Given the description of an element on the screen output the (x, y) to click on. 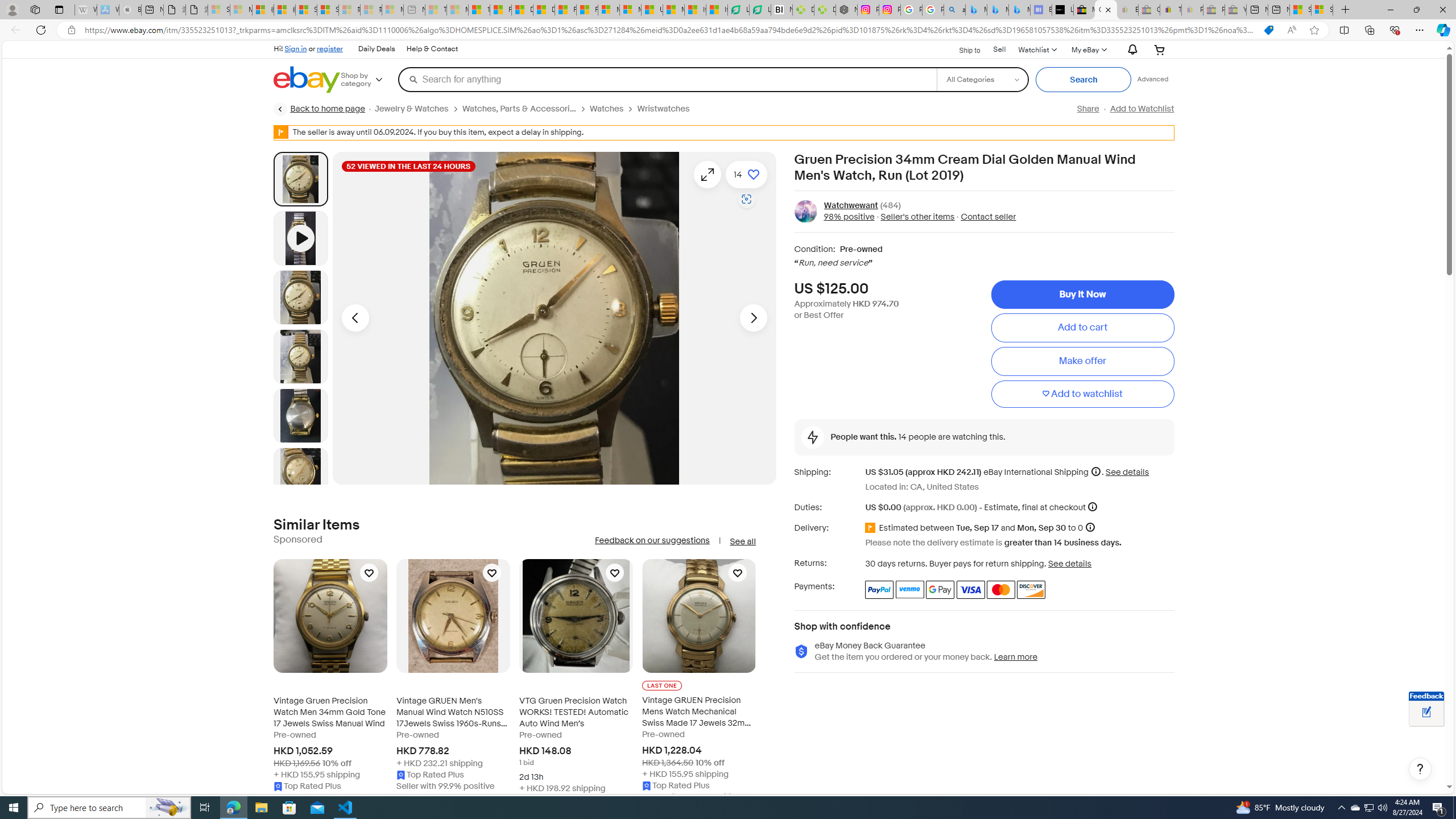
Picture 1 of 13 (300, 178)
Venmo (909, 588)
Daily Deals (376, 49)
Feedback on our suggestions (652, 540)
Add to watchlist (1082, 394)
WatchlistExpand Watch List (1036, 49)
Add to cart (1082, 328)
Make offer (1082, 361)
  Seller's other items (914, 216)
Wristwatches (663, 108)
